Given the description of an element on the screen output the (x, y) to click on. 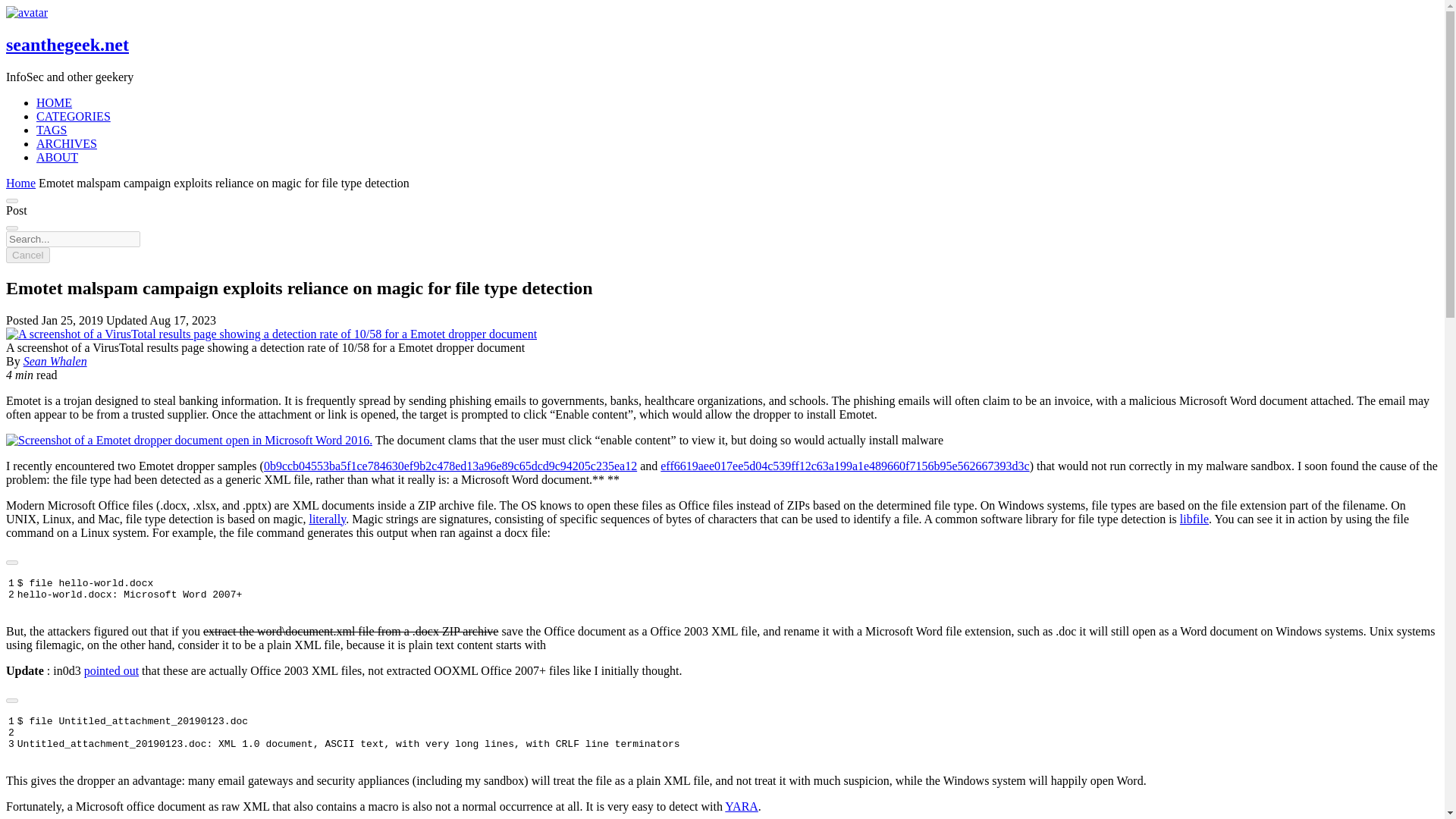
CATEGORIES (73, 115)
YARA (741, 806)
literally (327, 518)
Home (19, 182)
ABOUT (57, 156)
HOME (53, 102)
ARCHIVES (66, 143)
Cancel (27, 254)
pointed out (111, 670)
